Given the description of an element on the screen output the (x, y) to click on. 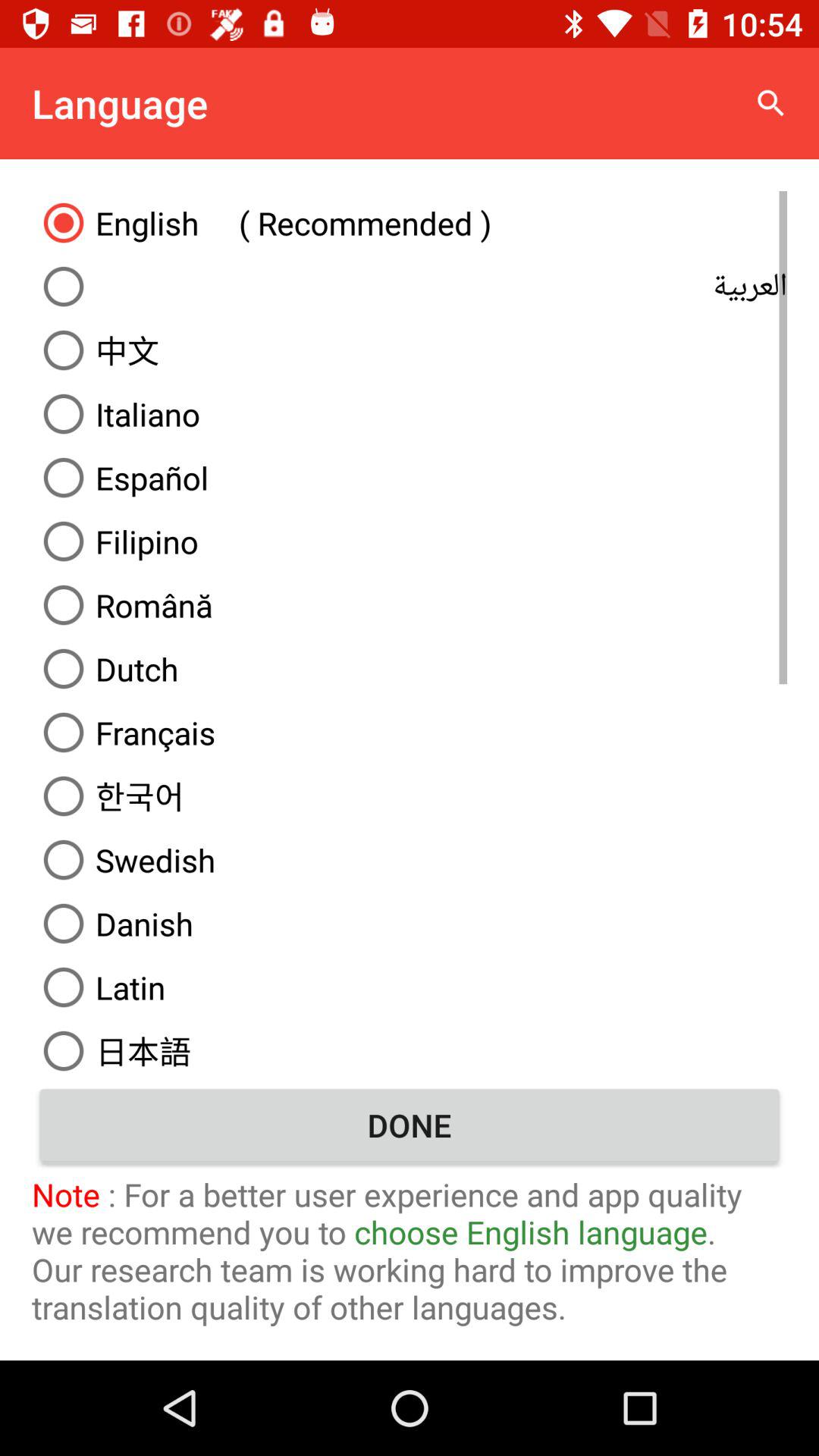
turn off swedish (409, 859)
